Given the description of an element on the screen output the (x, y) to click on. 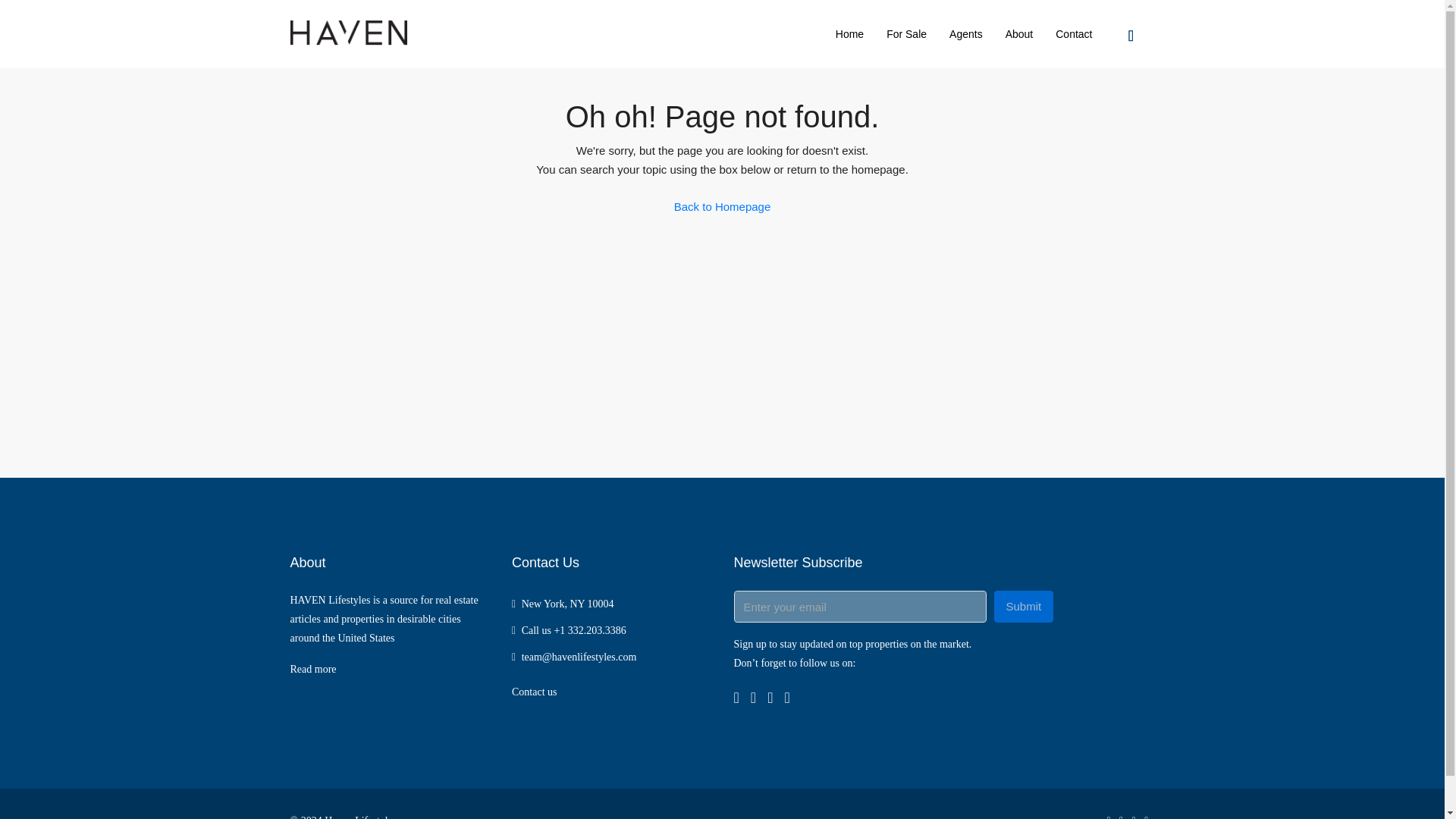
Read more (312, 668)
For Sale (906, 33)
Back to Homepage (722, 206)
Contact us (534, 691)
Submit (1022, 606)
